Given the description of an element on the screen output the (x, y) to click on. 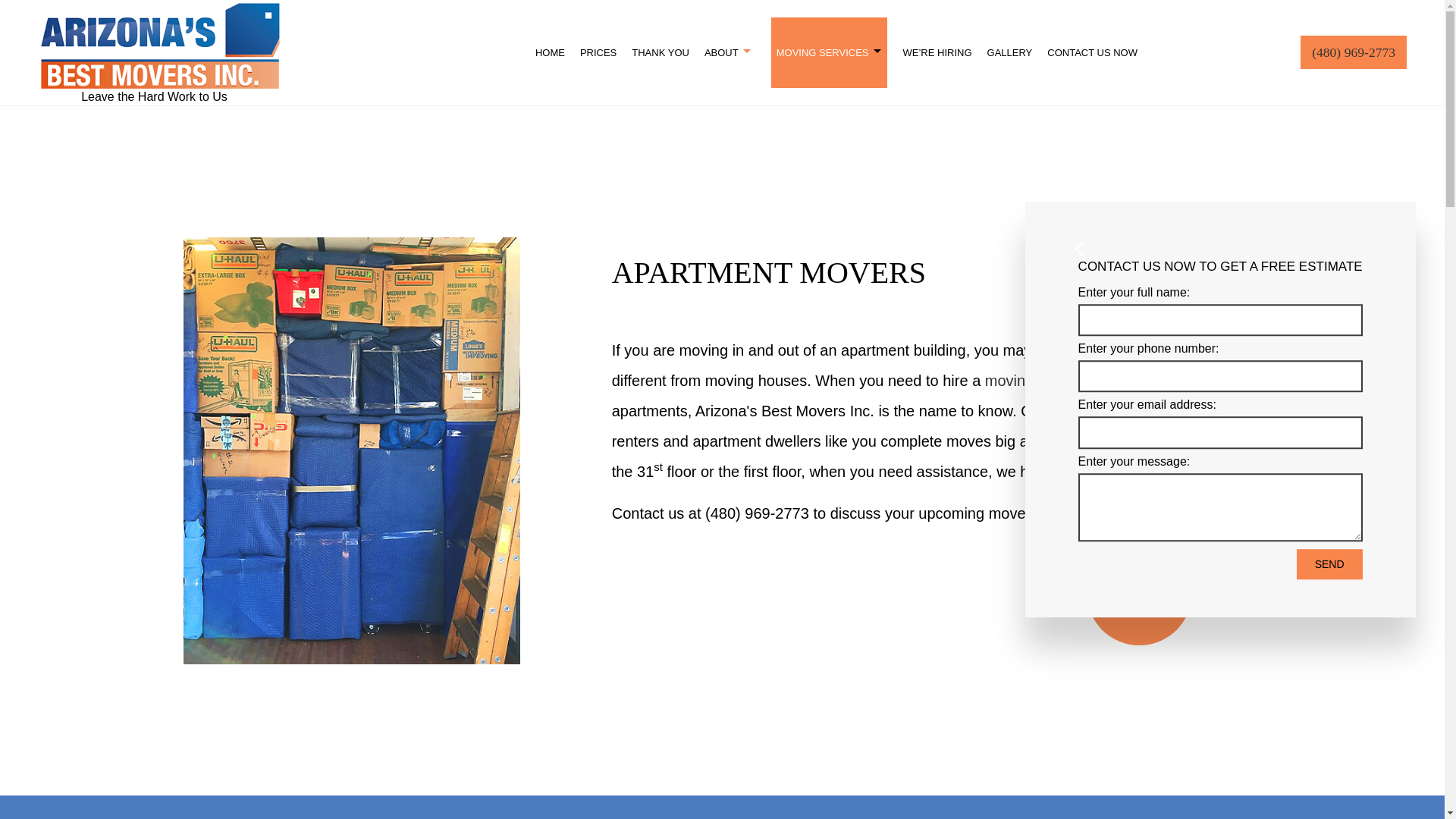
THANK YOU (660, 52)
MOVING TIPS (611, 125)
learn more about us (1042, 380)
MOVING SERVICES (830, 52)
Arizona's Best Movers Inc. (159, 42)
Your Message (1220, 507)
ABOUT (731, 52)
Full Name (1220, 319)
Get in touch with us (1139, 592)
Phone Number (1220, 376)
Email Address (1220, 432)
